Given the description of an element on the screen output the (x, y) to click on. 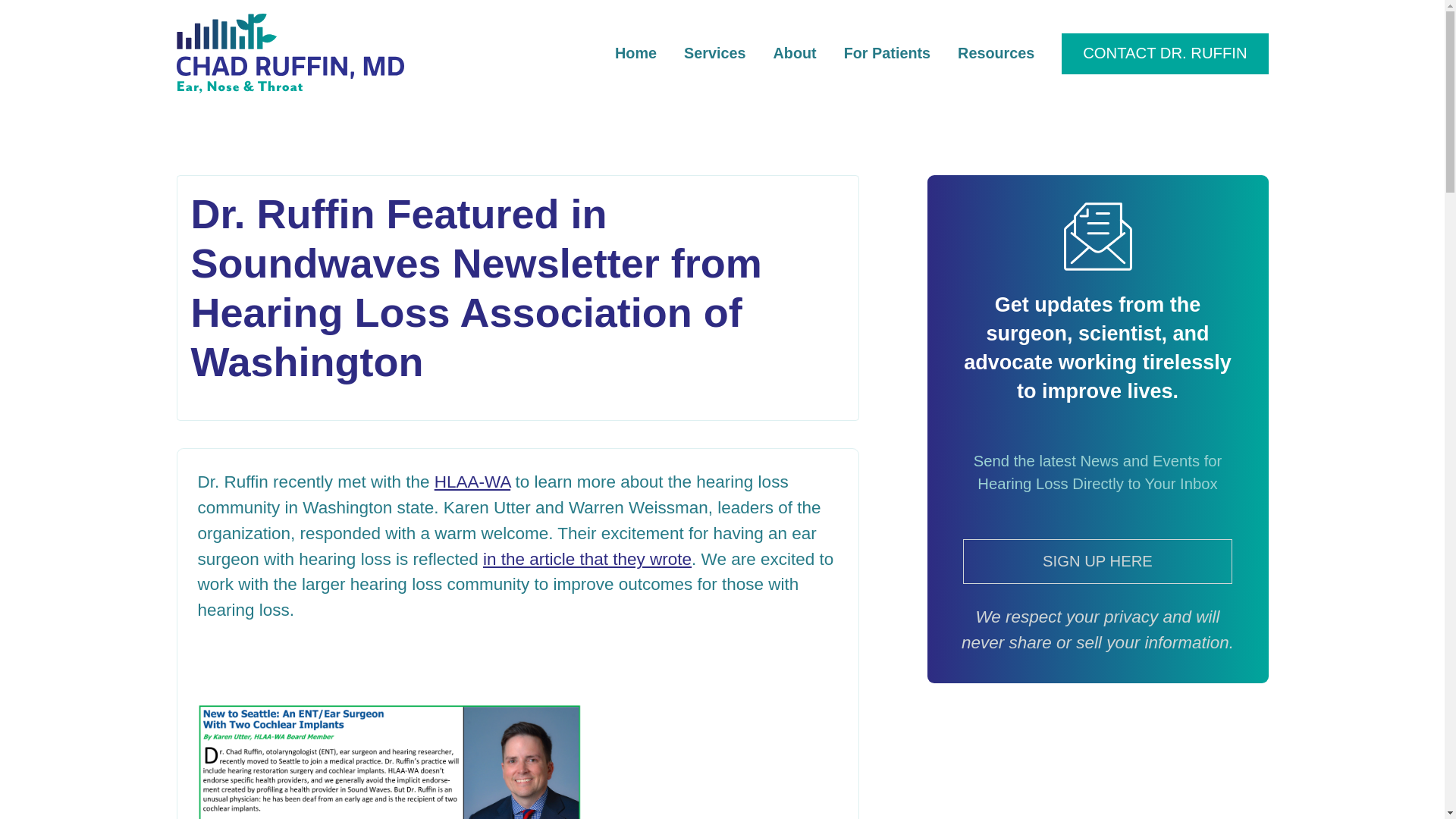
CONTACT DR. RUFFIN (1164, 53)
HLAA-WA (472, 481)
in the article that they wrote (587, 558)
SIGN UP HERE (1097, 560)
About (794, 54)
Home (635, 54)
